Given the description of an element on the screen output the (x, y) to click on. 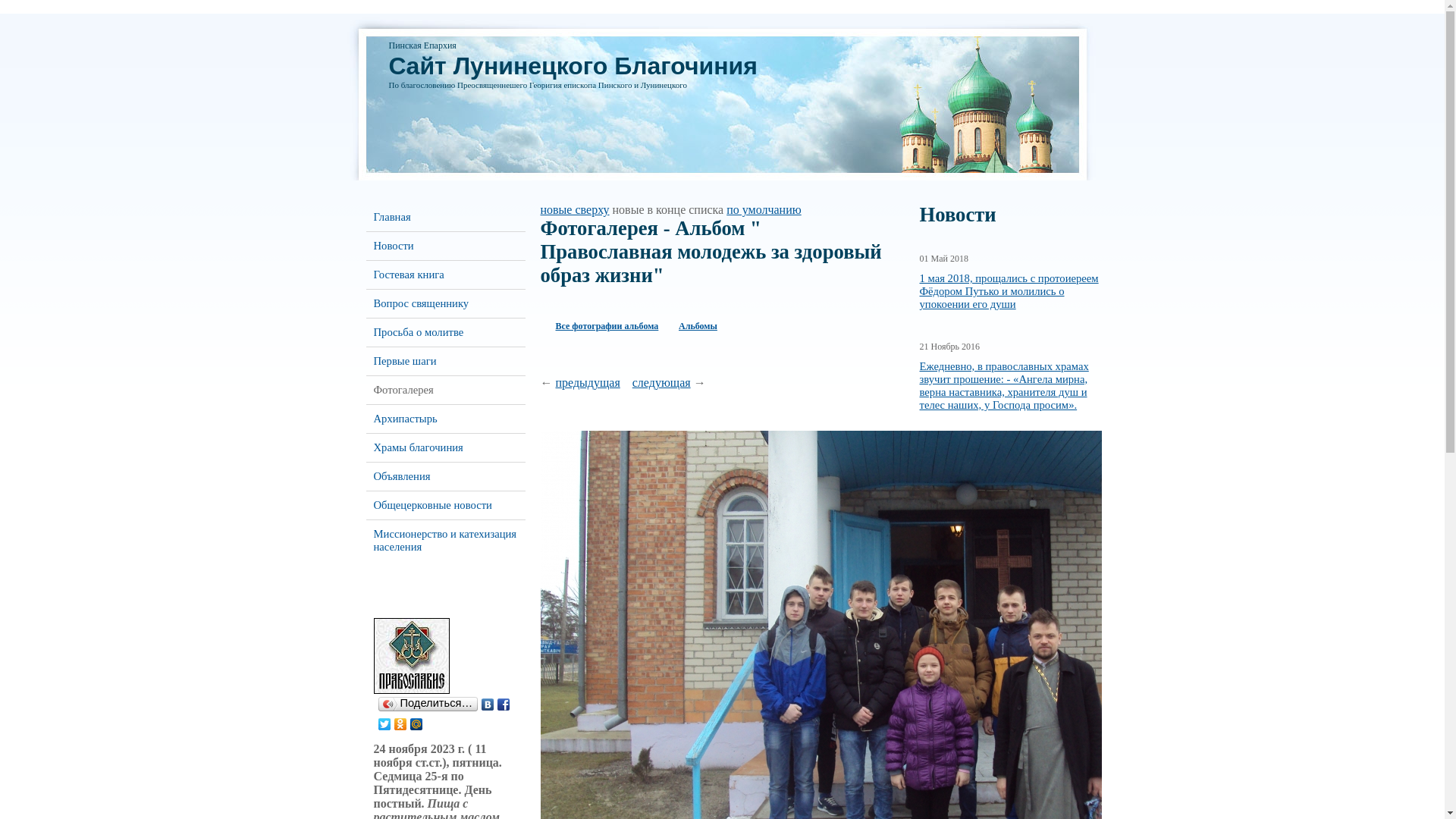
Twitter Element type: hover (384, 724)
Facebook Element type: hover (503, 704)
